Given the description of an element on the screen output the (x, y) to click on. 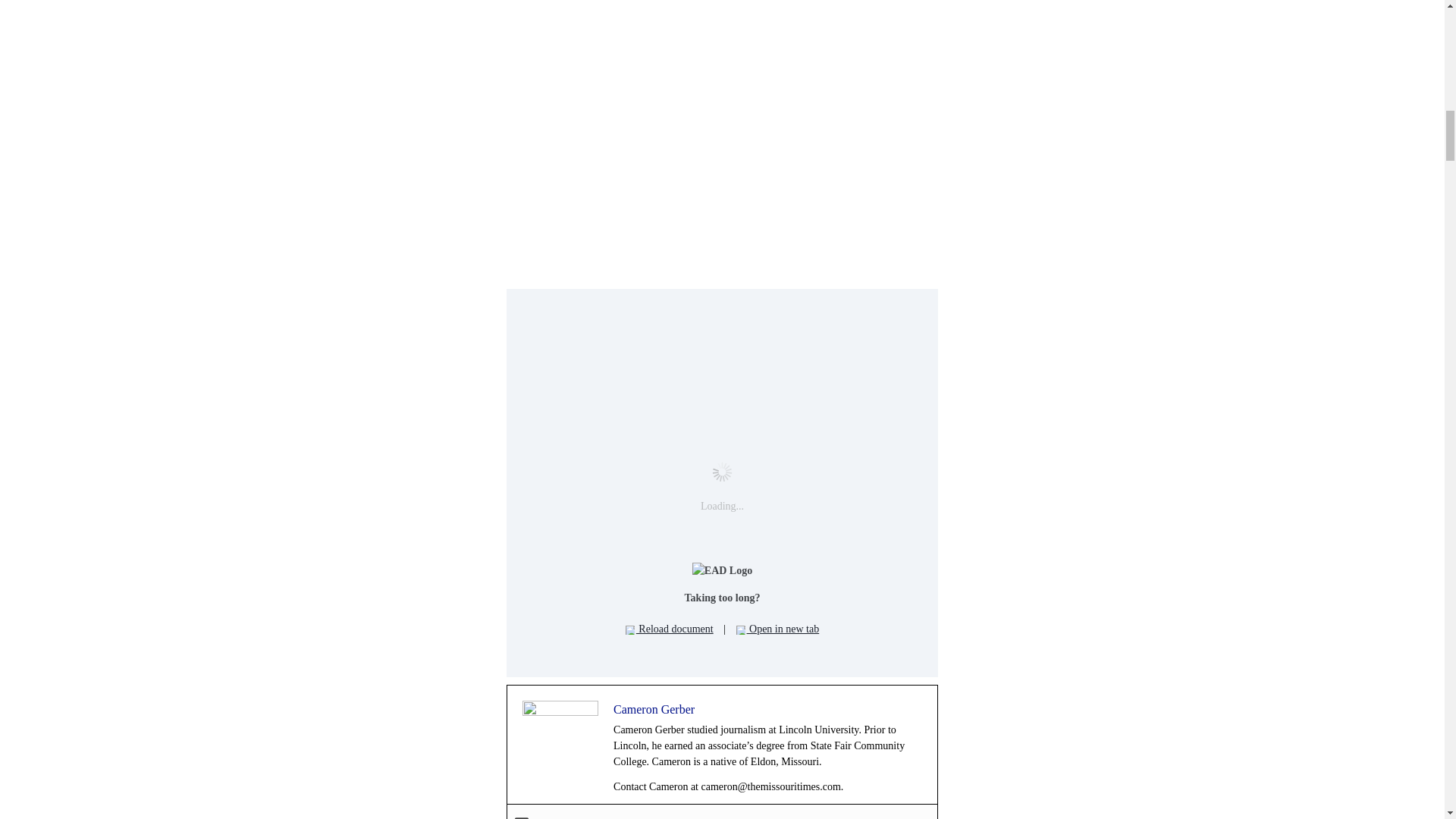
Open in new tab (777, 628)
User email (521, 817)
YouTube video player (721, 130)
Cameron Gerber (653, 708)
